Given the description of an element on the screen output the (x, y) to click on. 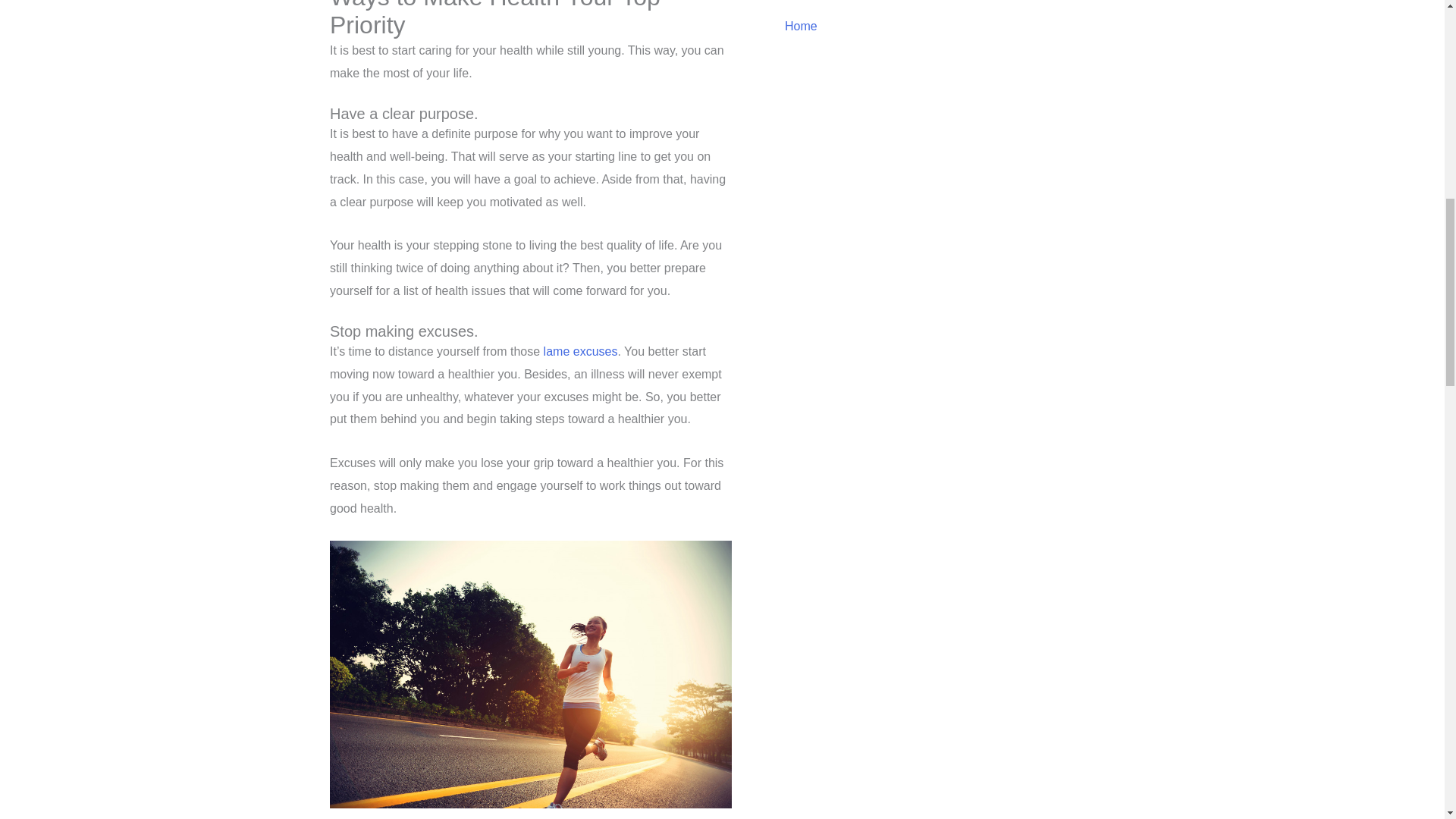
lame excuses (580, 350)
Uncategorized (963, 4)
Home (963, 26)
